Given the description of an element on the screen output the (x, y) to click on. 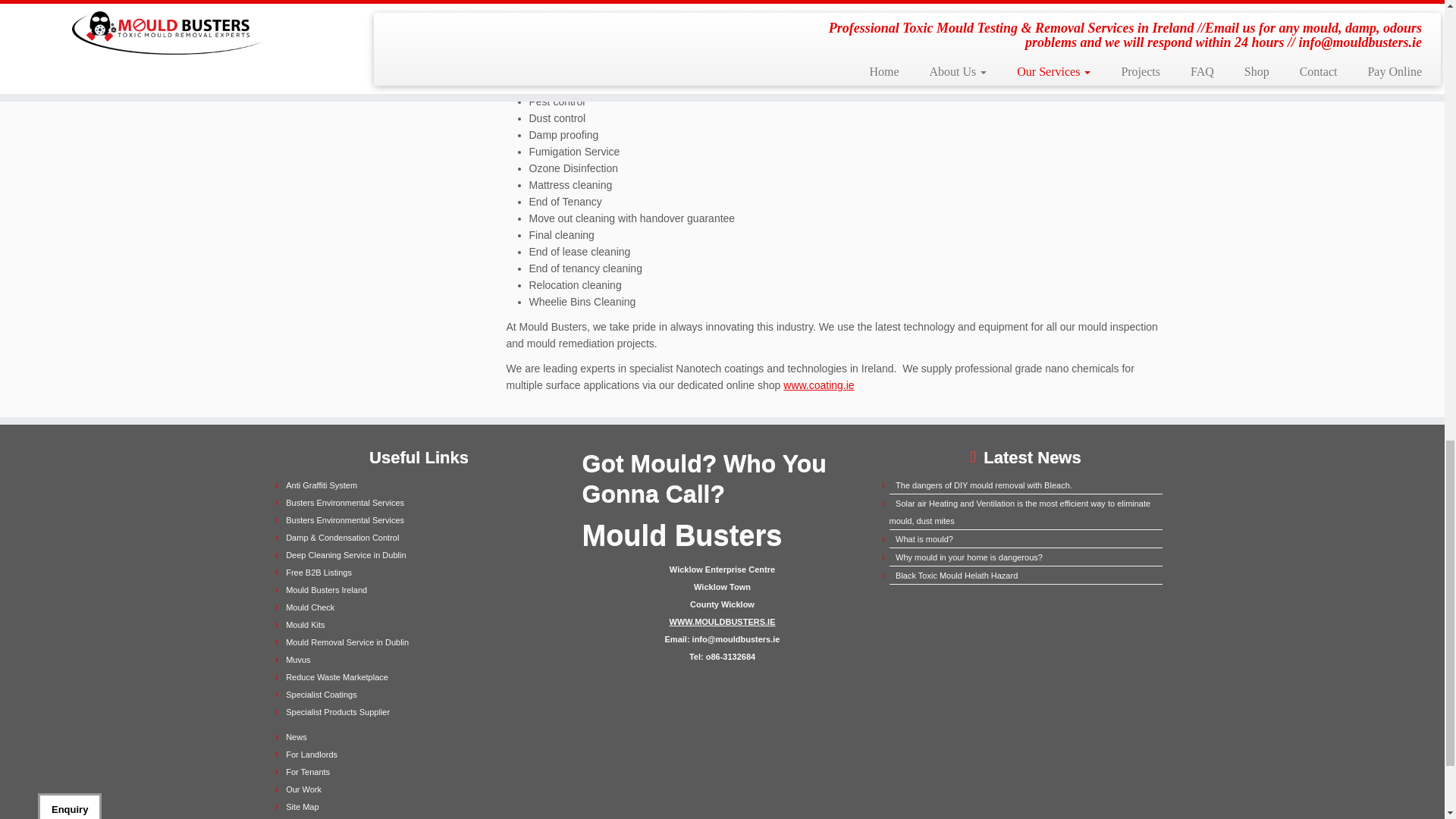
free classifieds site ireland (318, 572)
Busters Environmental Services (344, 519)
Damp Busters (341, 537)
Domestic and commercial cleaning services in Dublin (345, 554)
www.coating.ie (818, 385)
Mould removal and decontamination services in Ireland (344, 519)
Busters Environmental Services (344, 501)
Anti Graffiti System (320, 484)
